Given the description of an element on the screen output the (x, y) to click on. 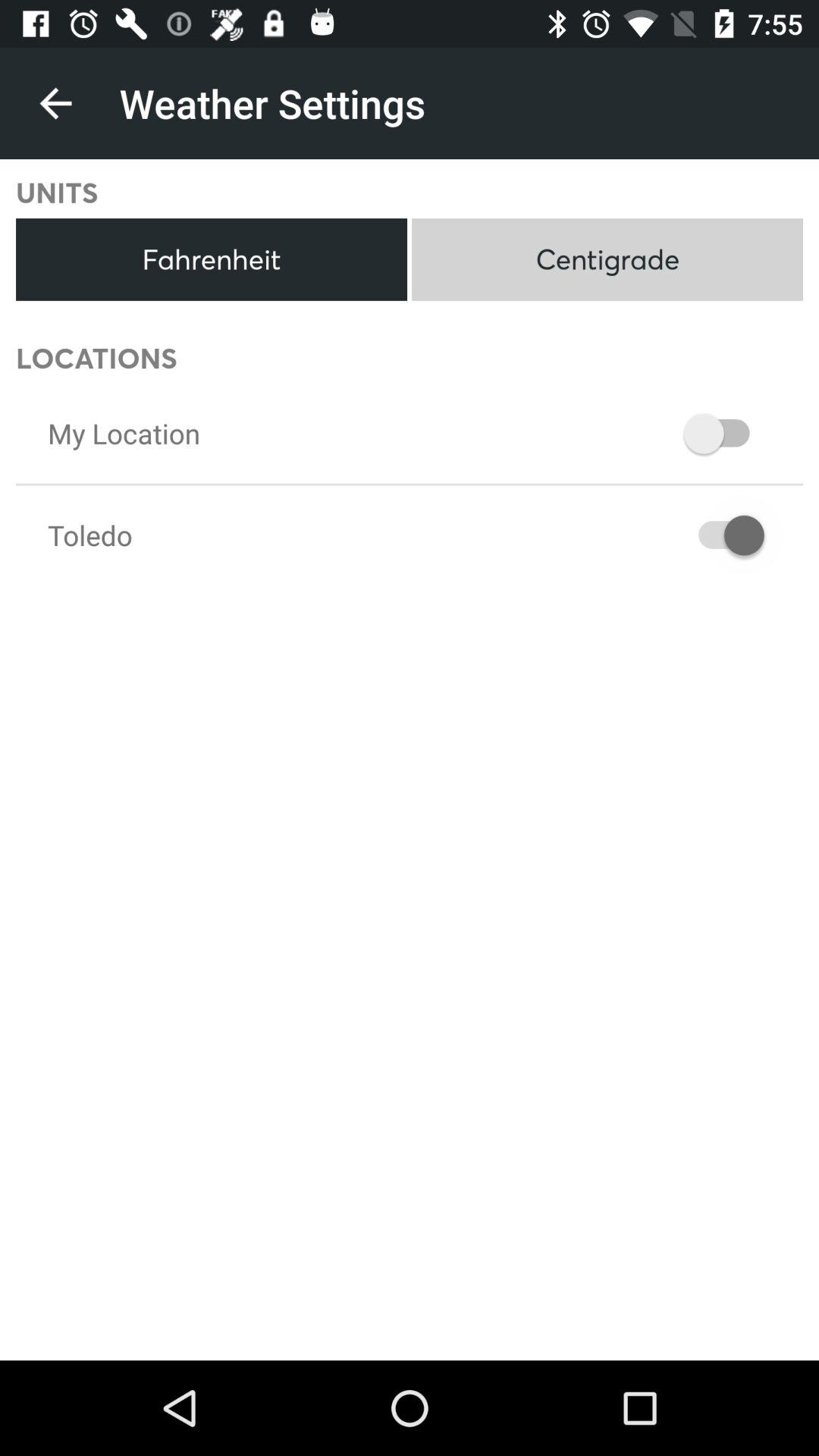
scroll until fahrenheit (211, 259)
